Given the description of an element on the screen output the (x, y) to click on. 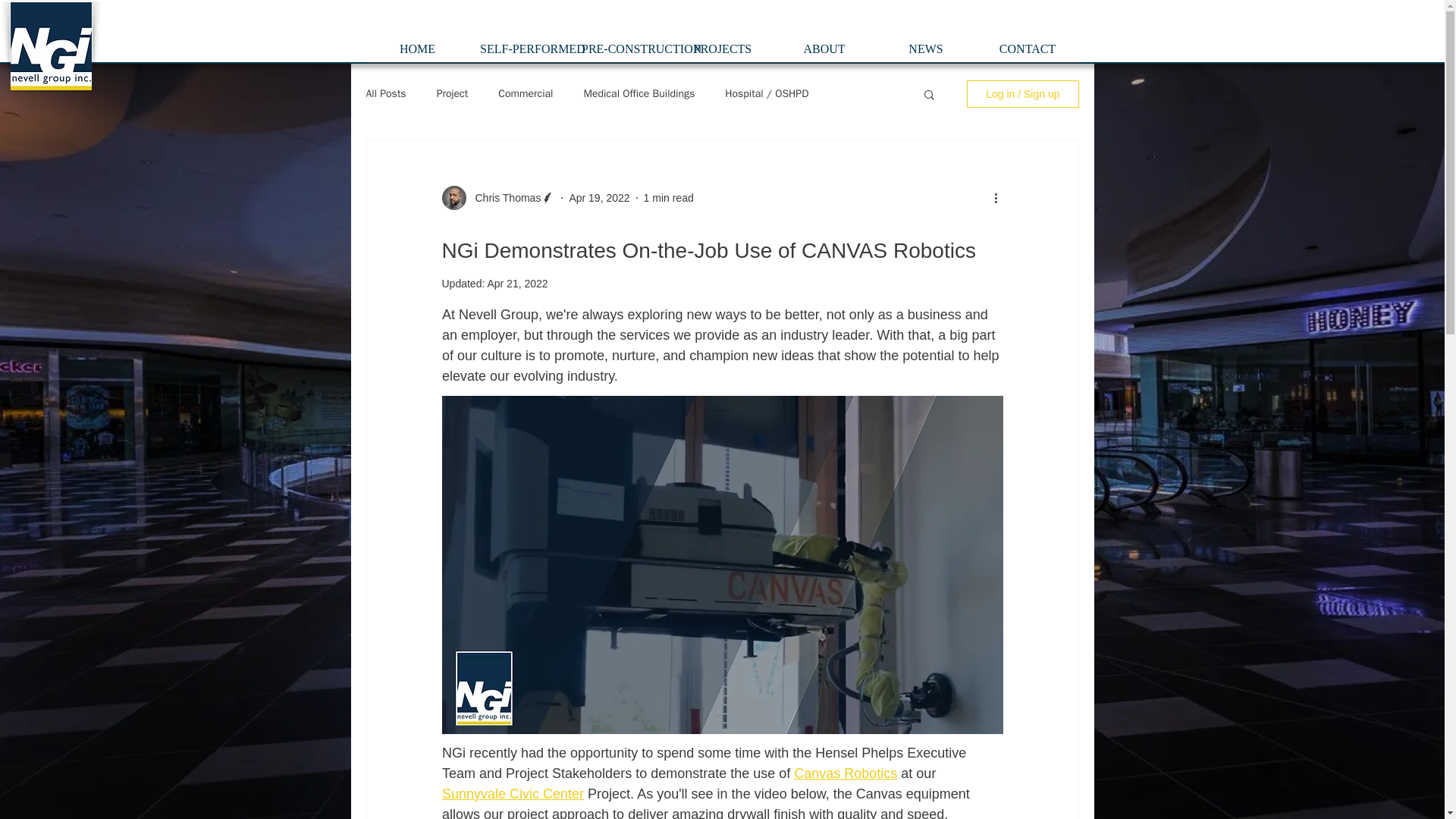
Medical Office Buildings (638, 93)
Apr 19, 2022 (598, 196)
SELF-PERFORMED (519, 54)
All Posts (385, 93)
PRE-CONSTRUCTION (620, 54)
Apr 21, 2022 (516, 283)
ABOUT (824, 54)
Commercial (525, 93)
HOME (417, 54)
1 min read (668, 196)
